Given the description of an element on the screen output the (x, y) to click on. 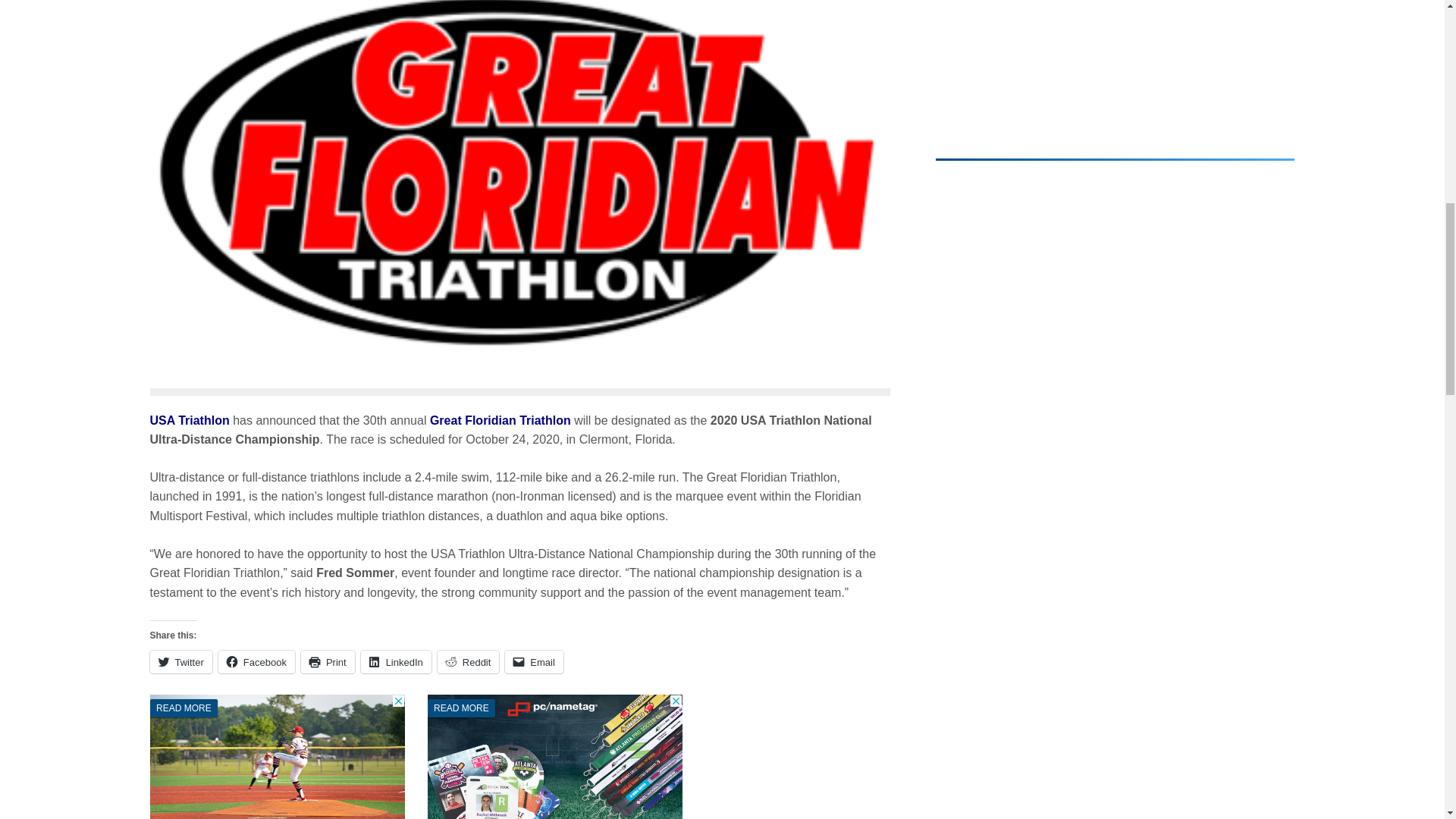
Click to print (328, 661)
Click to email a link to a friend (534, 661)
Interaction questions (1115, 65)
Click to share on Facebook (256, 661)
3rd party ad content (276, 756)
Click to share on LinkedIn (395, 661)
3rd party ad content (555, 756)
Click to share on Reddit (468, 661)
Click to share on Twitter (180, 661)
